Given the description of an element on the screen output the (x, y) to click on. 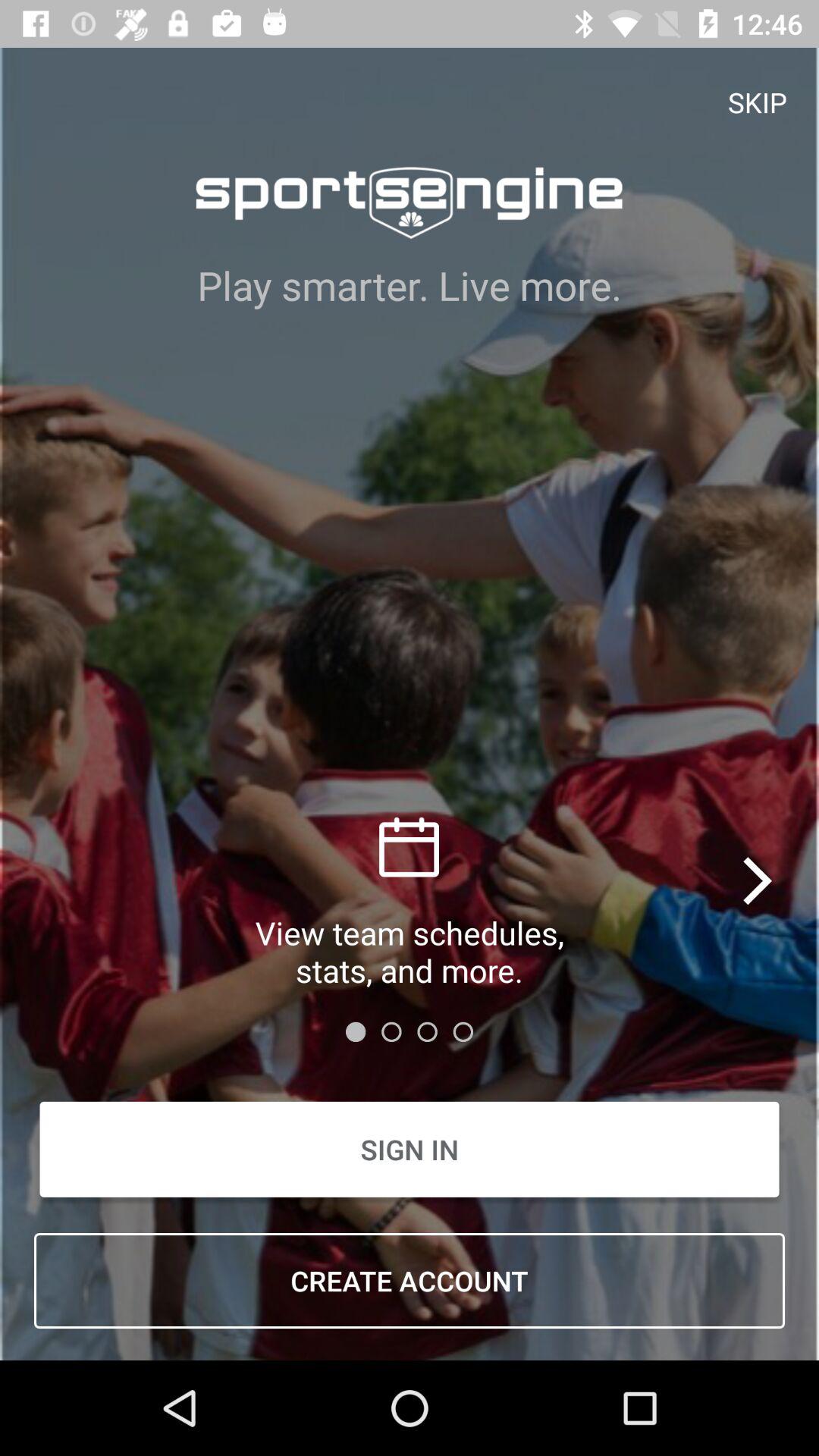
select create account item (409, 1280)
